Given the description of an element on the screen output the (x, y) to click on. 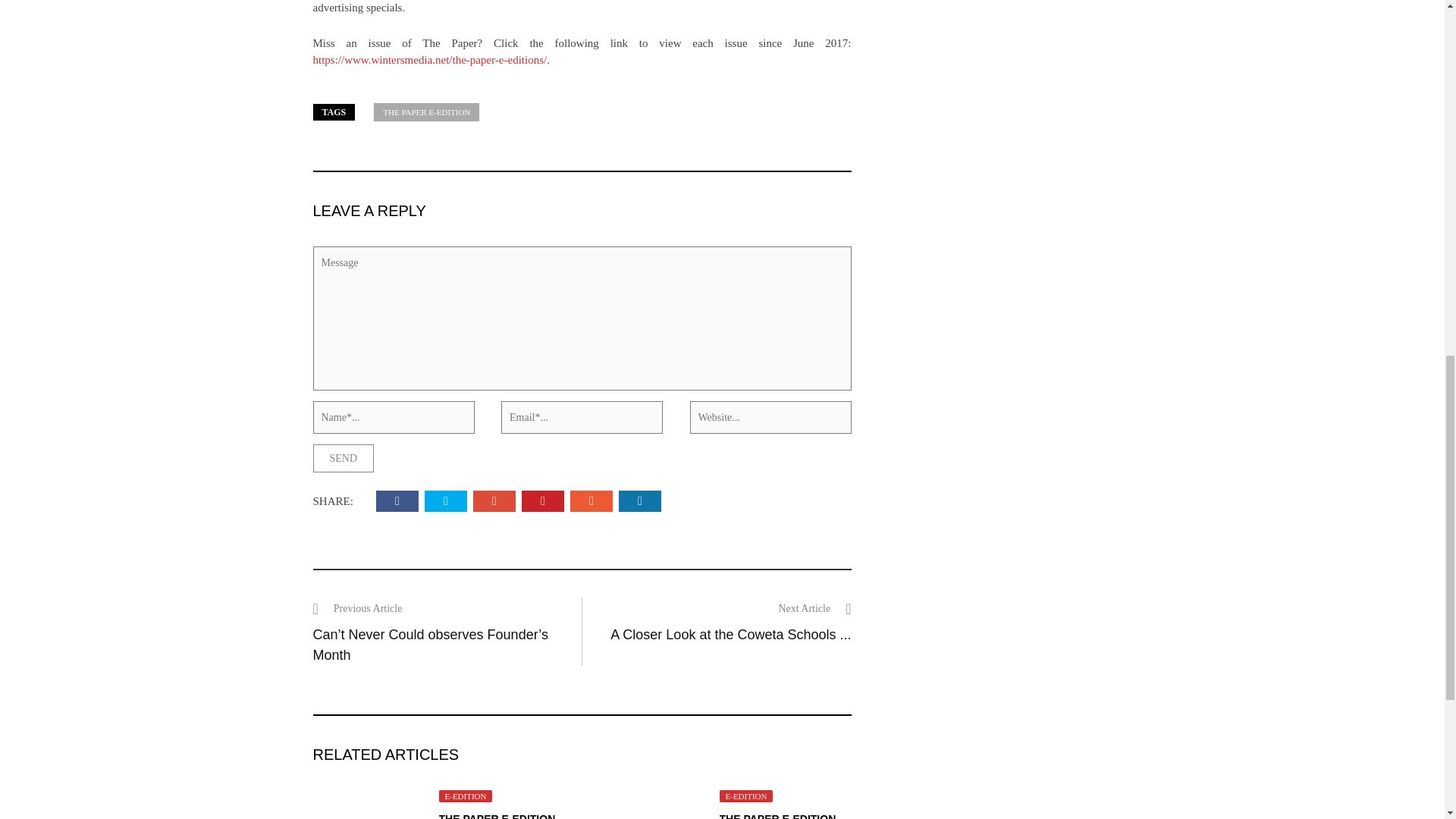
View all posts tagged The Paper E-Edition (426, 112)
Send (343, 458)
